Given the description of an element on the screen output the (x, y) to click on. 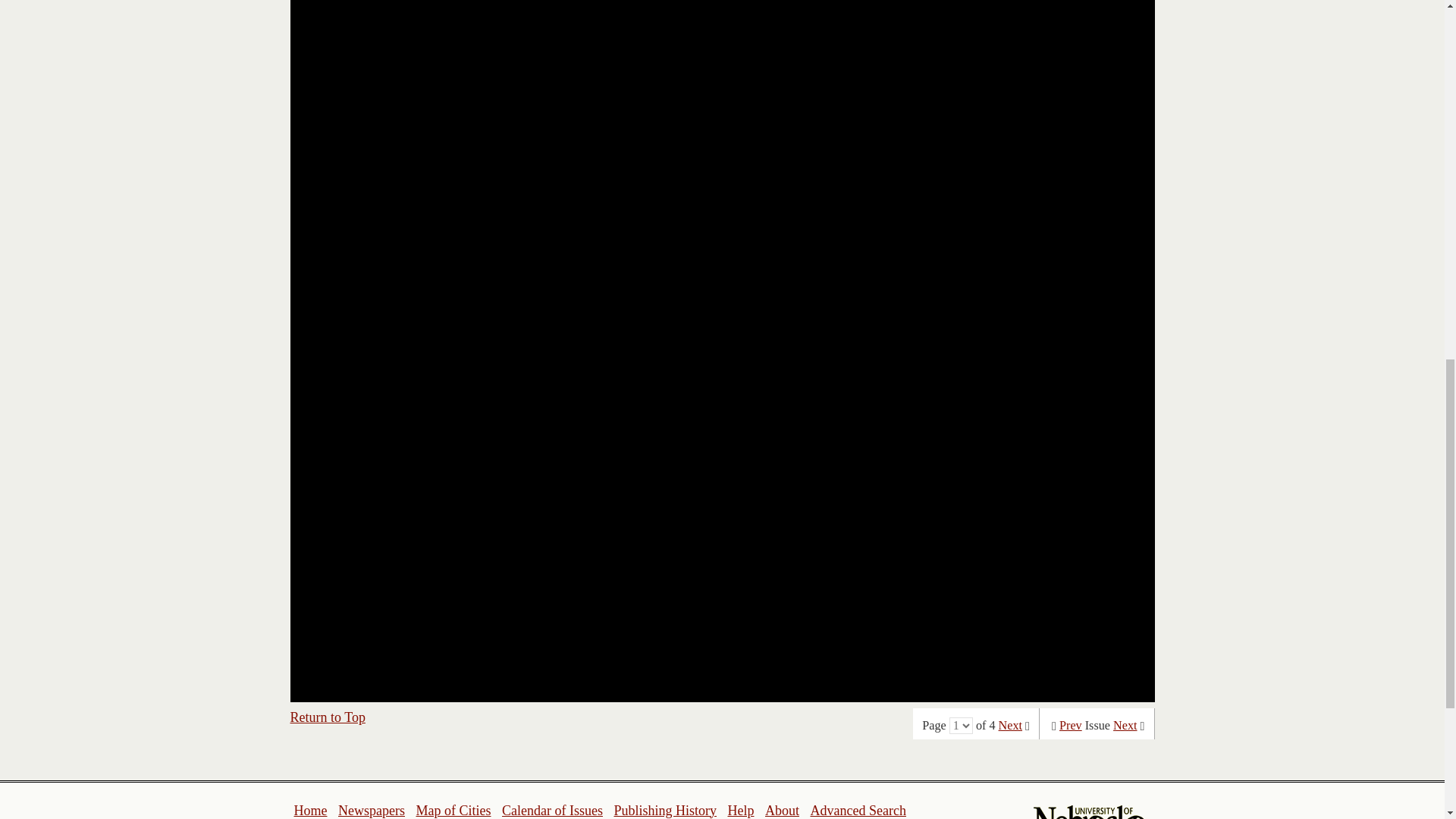
Next (1125, 725)
About (782, 810)
Newspapers (370, 810)
Publishing History (664, 810)
Next (1010, 725)
Help (740, 810)
Calendar of Issues (552, 810)
Advanced Search (857, 810)
Return to Top (327, 717)
Prev (1070, 725)
Home (310, 810)
Map of Cities (452, 810)
